Given the description of an element on the screen output the (x, y) to click on. 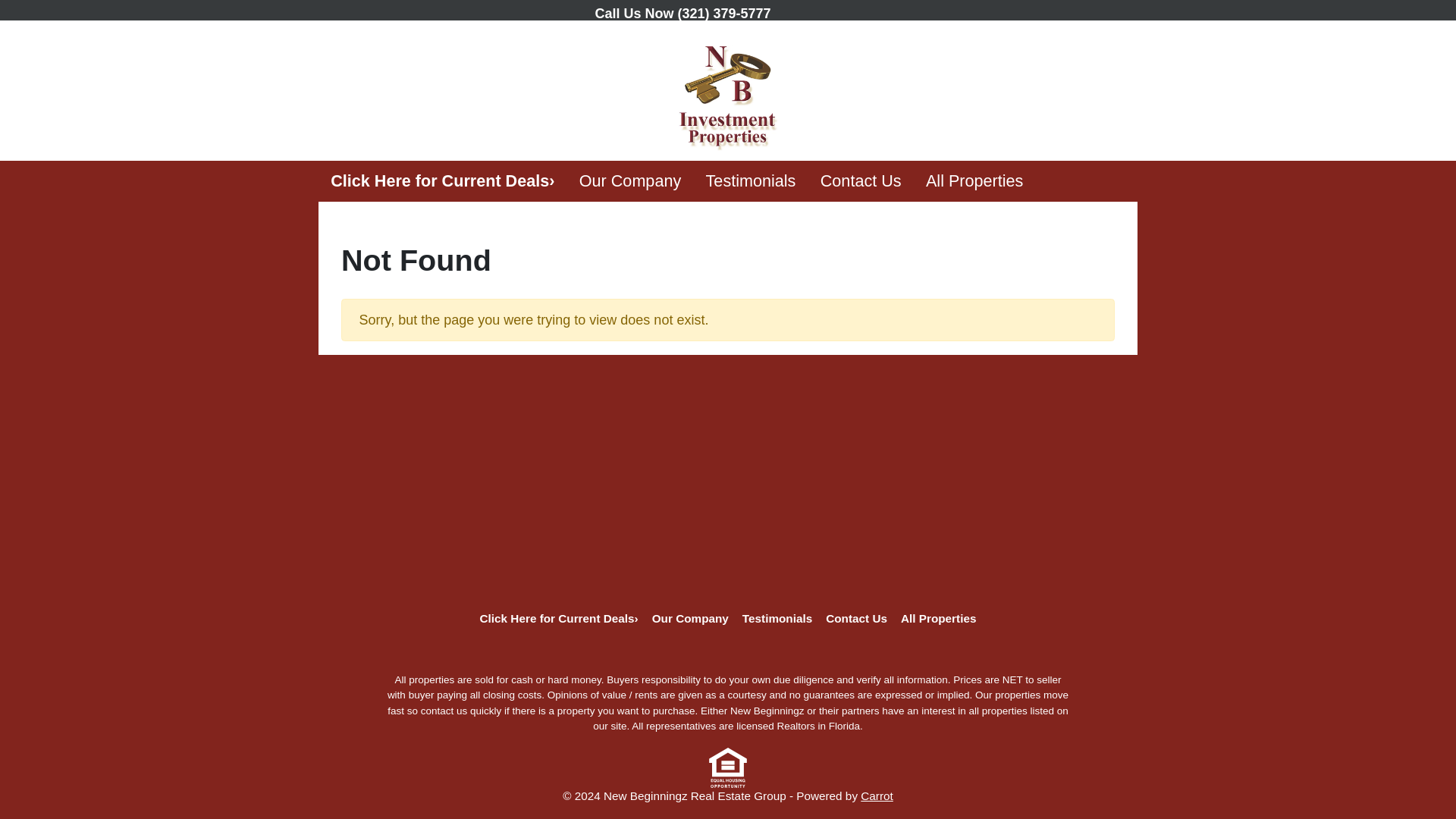
Instagram (853, 10)
Facebook (817, 10)
Our Company (630, 180)
Testimonials (776, 618)
Testimonials (750, 180)
Carrot (876, 795)
Testimonials (750, 180)
Instagram (765, 651)
Contact Us (855, 618)
Contact Us (861, 180)
